Given the description of an element on the screen output the (x, y) to click on. 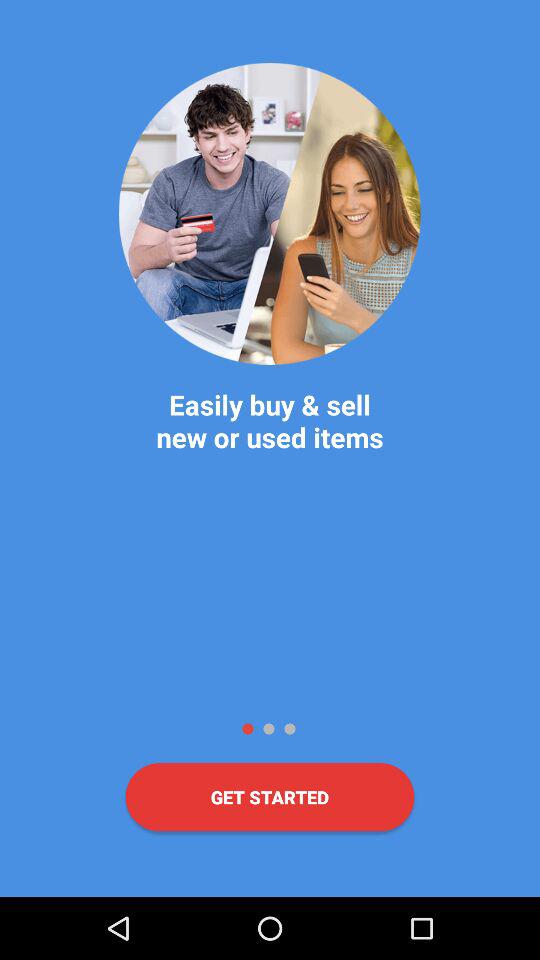
tap get started item (269, 797)
